Given the description of an element on the screen output the (x, y) to click on. 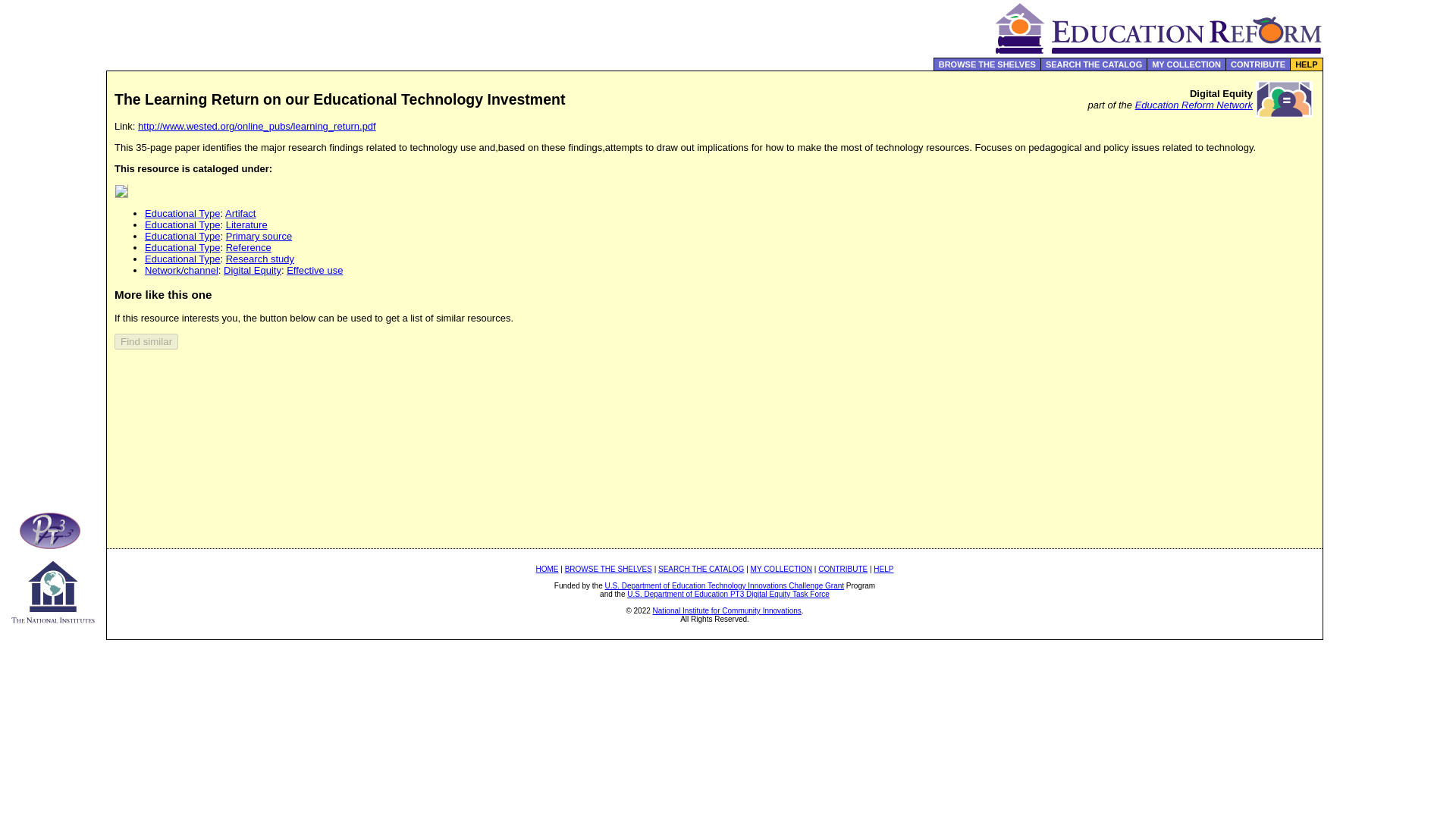
SEARCH THE CATALOG (701, 569)
Educational Type (182, 235)
Artifact (240, 213)
Literature (246, 224)
Educational Type (182, 213)
MY COLLECTION (1186, 63)
BROWSE THE SHELVES (987, 63)
CONTRIBUTE (842, 569)
Find similar (146, 341)
Digital Equity (252, 270)
Reference (247, 247)
